Given the description of an element on the screen output the (x, y) to click on. 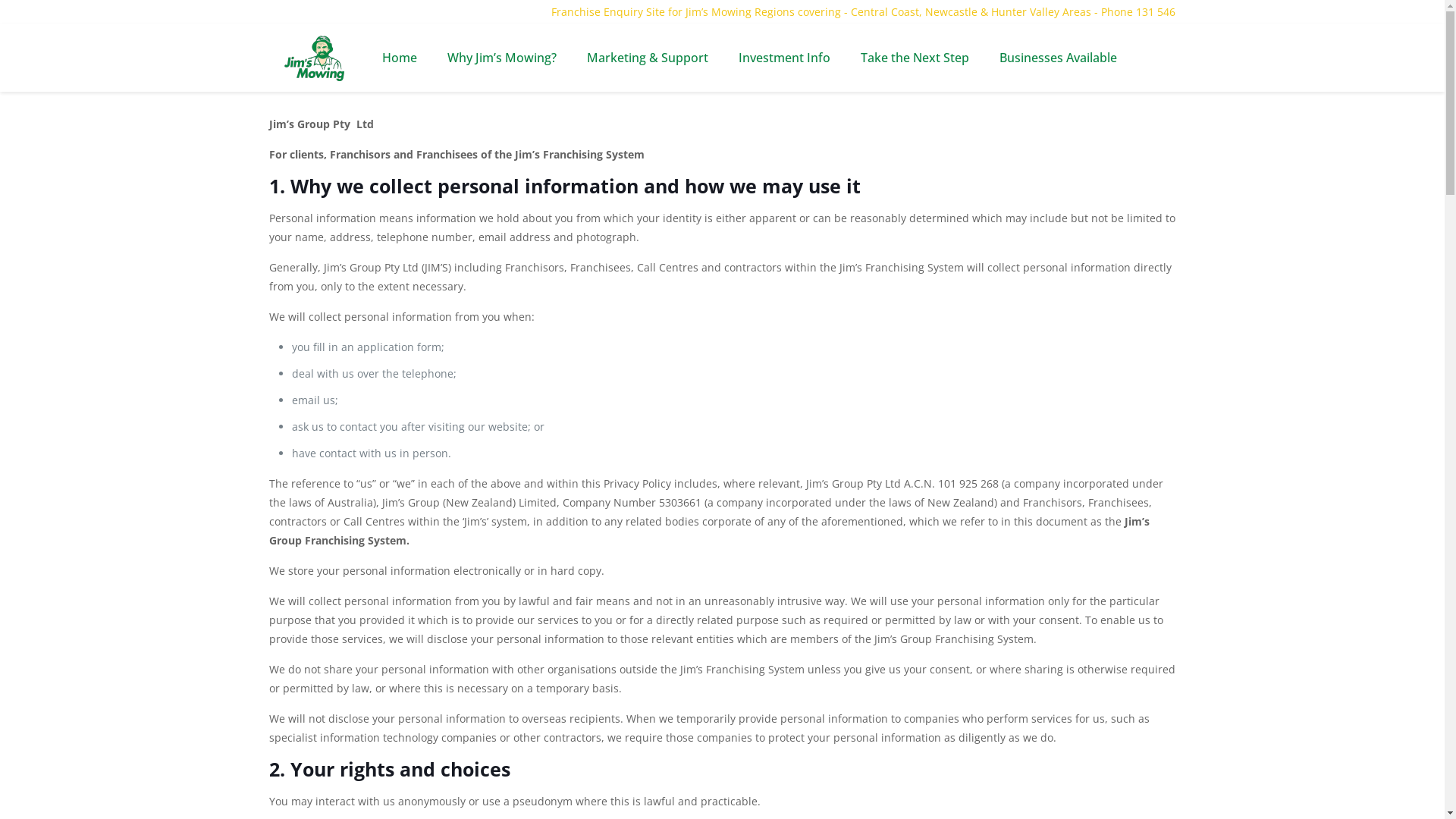
Marketing & Support Element type: text (647, 57)
Businesses Available Element type: text (1058, 57)
Lawn Mowing Franchise Element type: hover (314, 57)
Investment Info Element type: text (784, 57)
Home Element type: text (399, 57)
Take the Next Step Element type: text (914, 57)
